Given the description of an element on the screen output the (x, y) to click on. 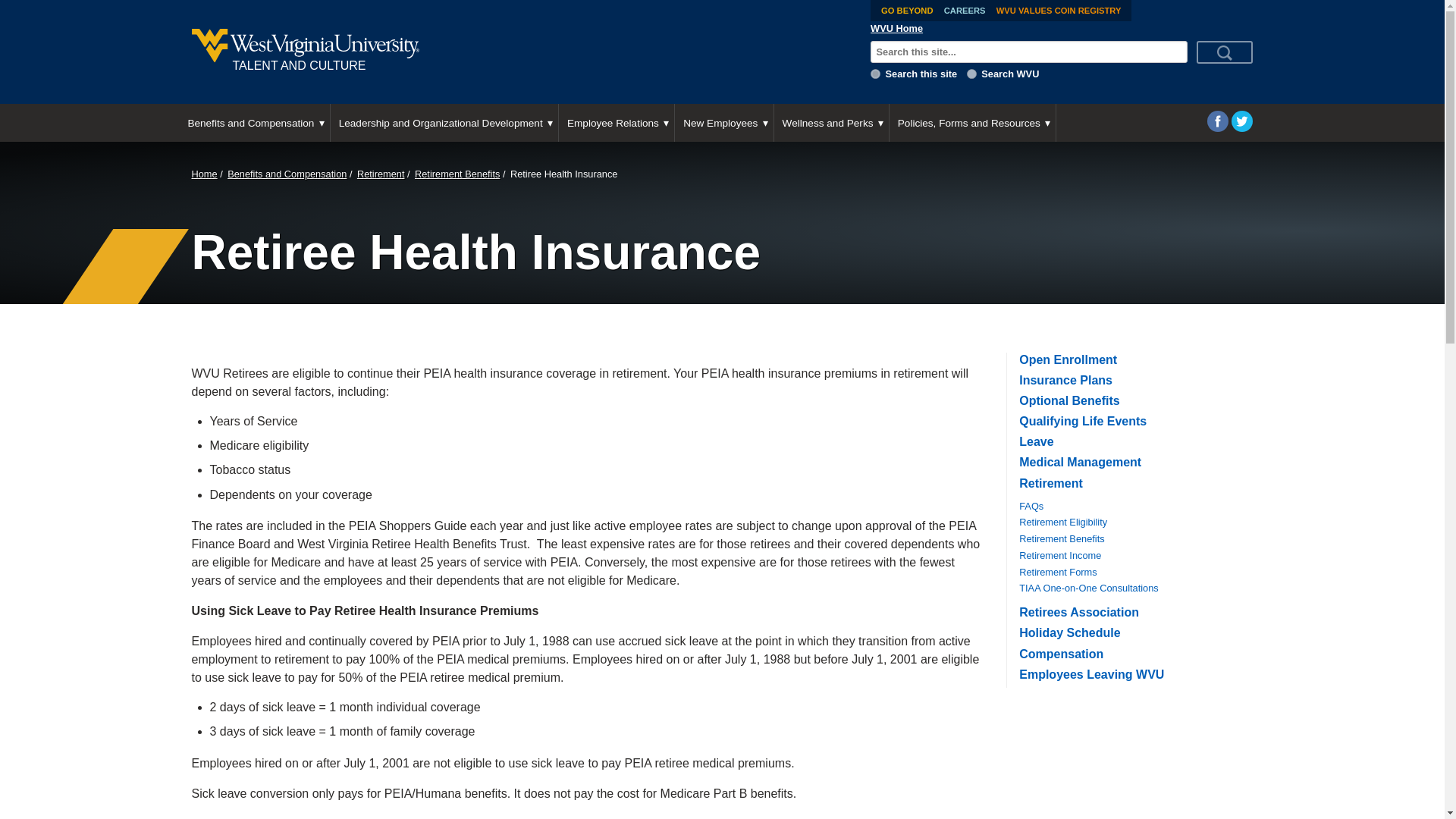
Wellness and Perks (831, 122)
Search (1224, 51)
Search (1224, 51)
Leadership and Organizational Development (443, 122)
Benefits and Compensation (254, 122)
New Employees (724, 122)
Employee Relations (616, 122)
TALENT AND CULTURE (517, 52)
WVU Home (896, 28)
GO BEYOND (906, 10)
WVU VALUES COIN REGISTRY (1058, 10)
talentandculture.wvu.edu (875, 73)
CAREERS (964, 10)
wvu.edu (971, 73)
Search (1224, 51)
